Given the description of an element on the screen output the (x, y) to click on. 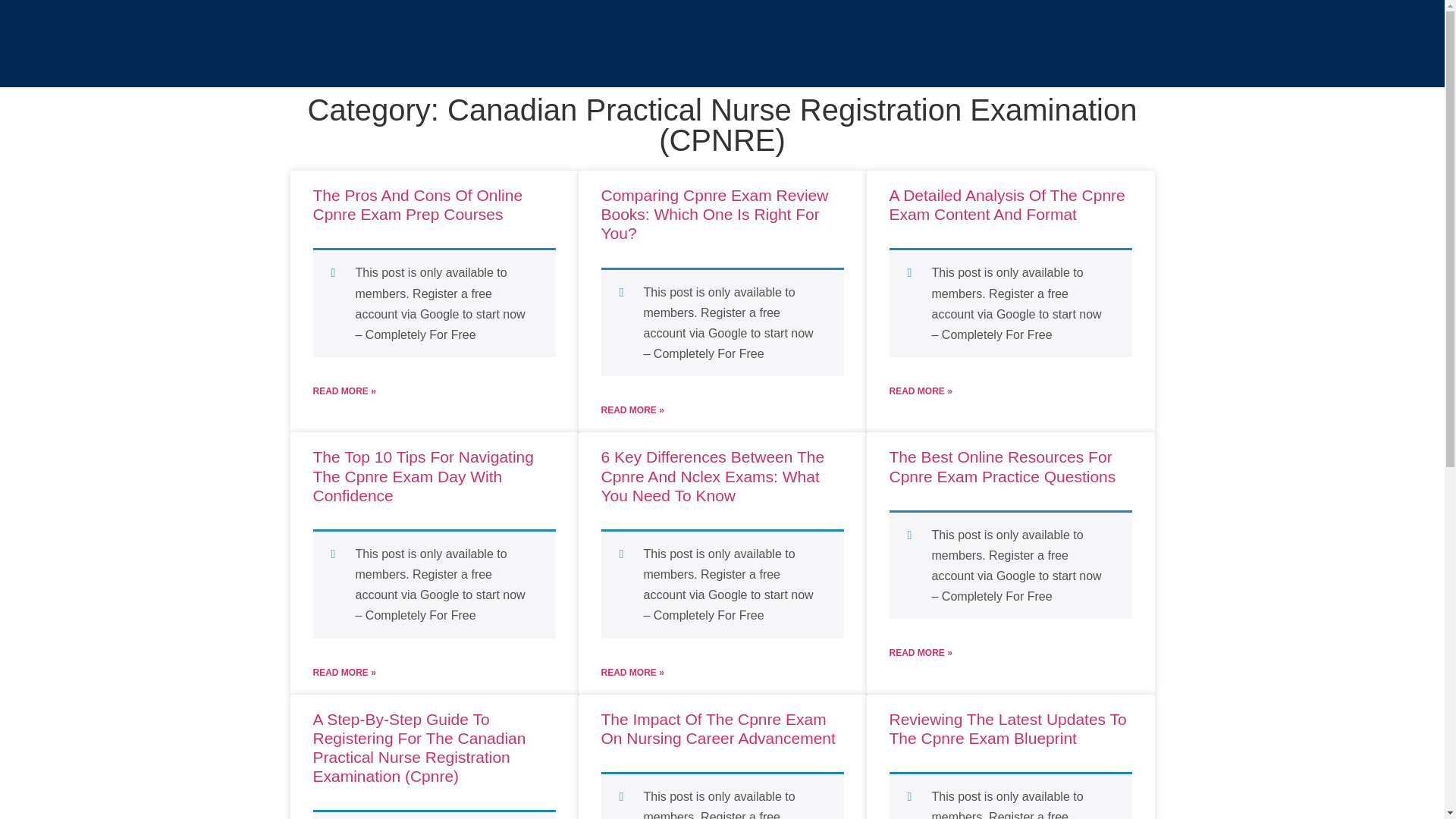
The Impact Of The Cpnre Exam On Nursing Career Advancement (716, 728)
The Best Online Resources For Cpnre Exam Practice Questions (1001, 465)
A Detailed Analysis Of The Cpnre Exam Content And Format (1006, 204)
The Pros And Cons Of Online Cpnre Exam Prep Courses (417, 204)
Reviewing The Latest Updates To The Cpnre Exam Blueprint (1006, 728)
